Given the description of an element on the screen output the (x, y) to click on. 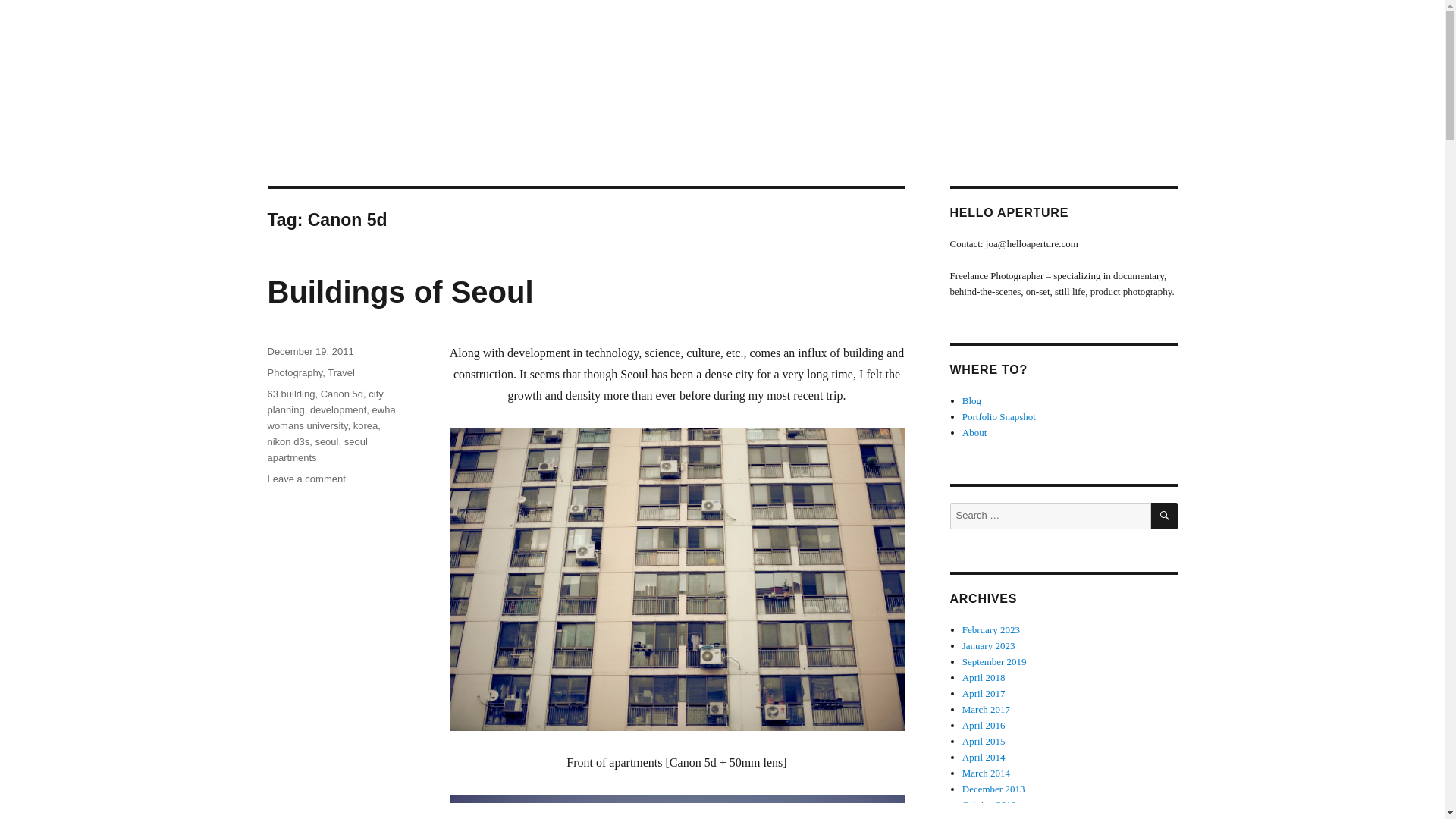
January 2023 (988, 645)
Blog (971, 400)
seoul apartments (316, 449)
Travel (341, 372)
nikon d3s (287, 441)
Canon 5d (341, 393)
Buildings of Seoul (399, 291)
February 2023 (991, 629)
Photography (293, 372)
city planning (324, 401)
63 building (290, 393)
December 19, 2011 (309, 351)
September 2019 (994, 661)
korea (365, 425)
development (338, 409)
